Given the description of an element on the screen output the (x, y) to click on. 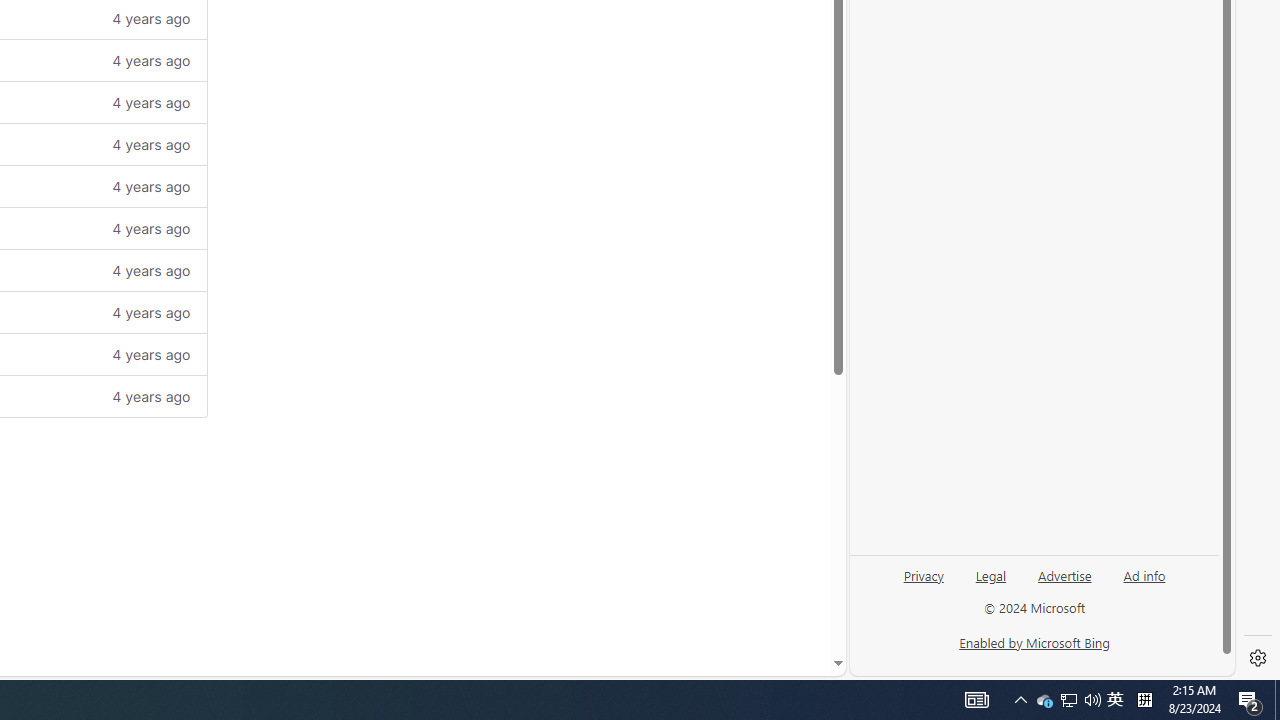
Legal (991, 574)
Privacy (923, 574)
Privacy (923, 583)
Ad info (1144, 583)
Legal (990, 583)
Ad info (1144, 574)
